Given the description of an element on the screen output the (x, y) to click on. 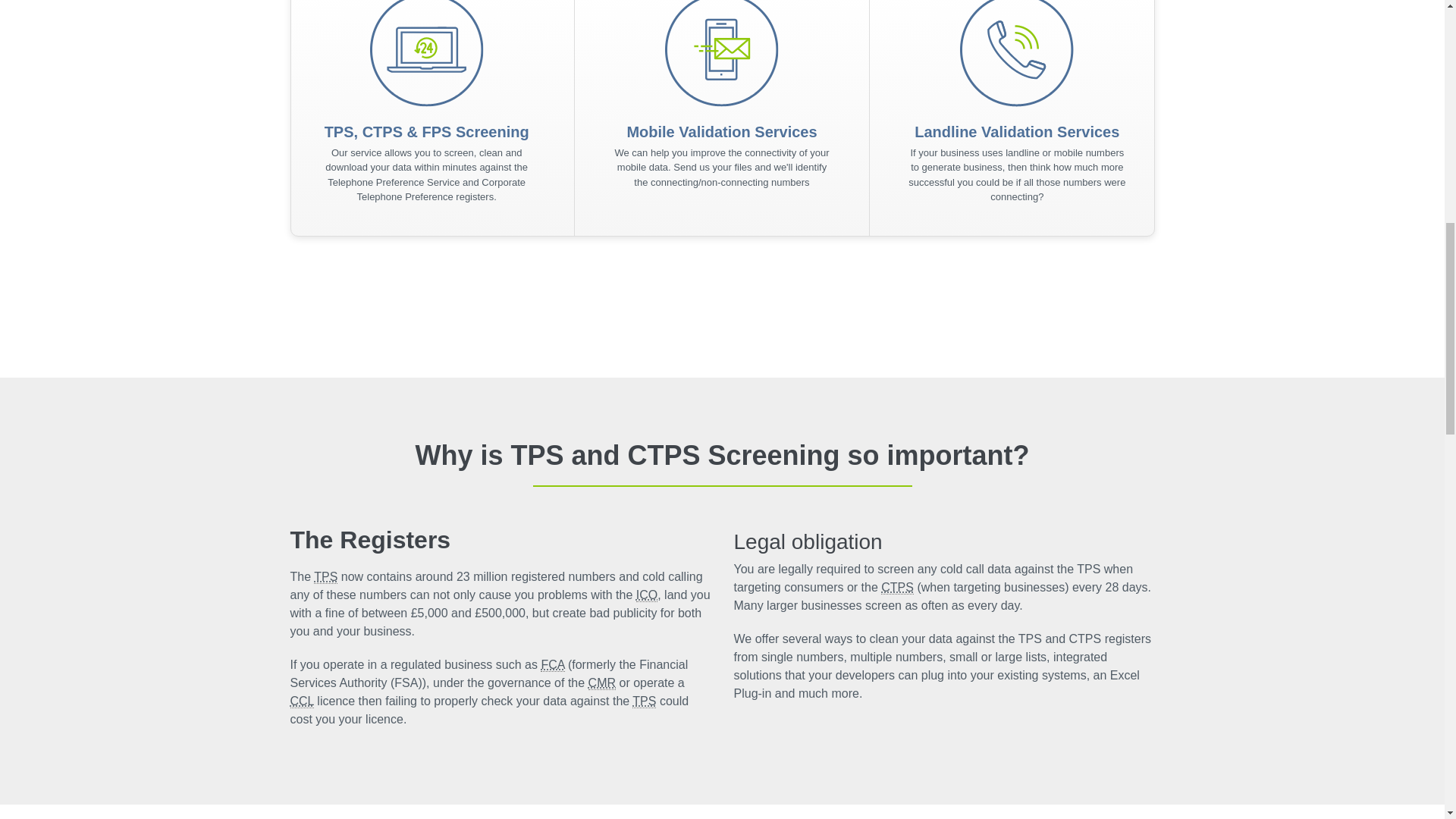
Information Commissioners Office (647, 594)
Telephone Preference Service (325, 576)
Consumer Credit Licence (301, 701)
Financial Conduct Authority (552, 664)
Telephone Preference Service (643, 701)
Claims Management Regulator (601, 683)
Corporate Telephone Preference Service (897, 587)
